Given the description of an element on the screen output the (x, y) to click on. 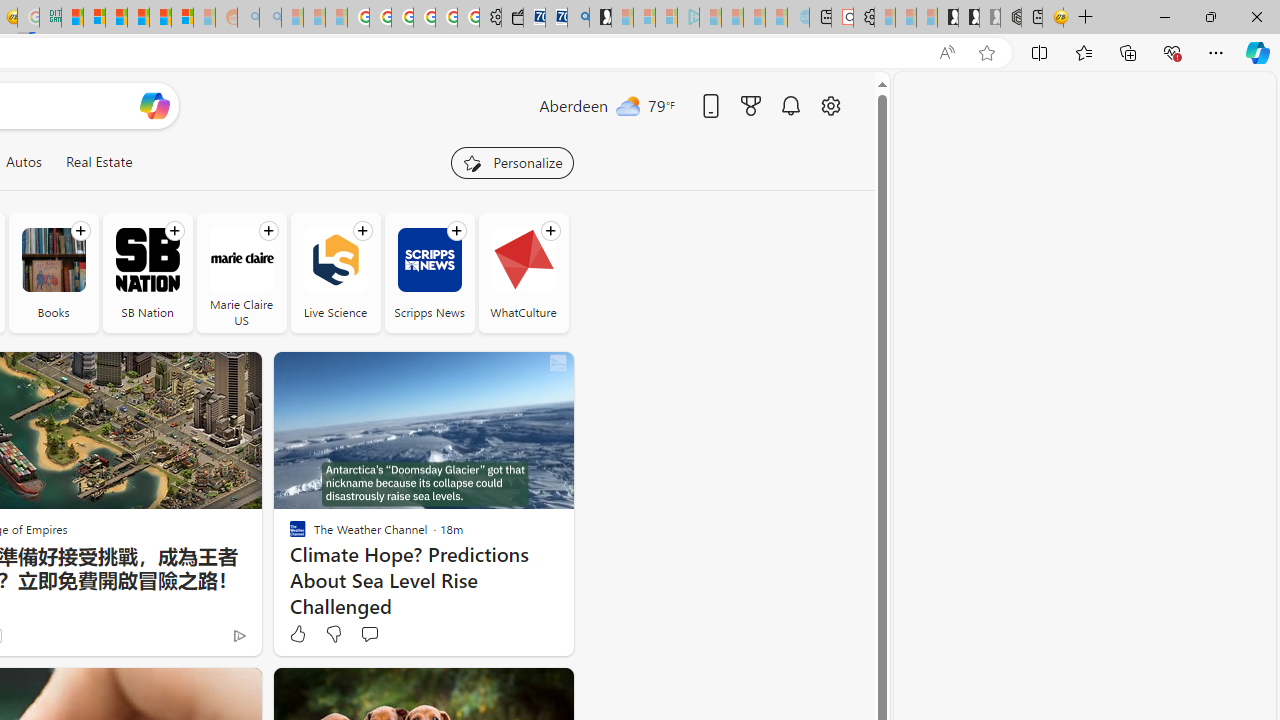
Marie Claire US (240, 260)
